Given the description of an element on the screen output the (x, y) to click on. 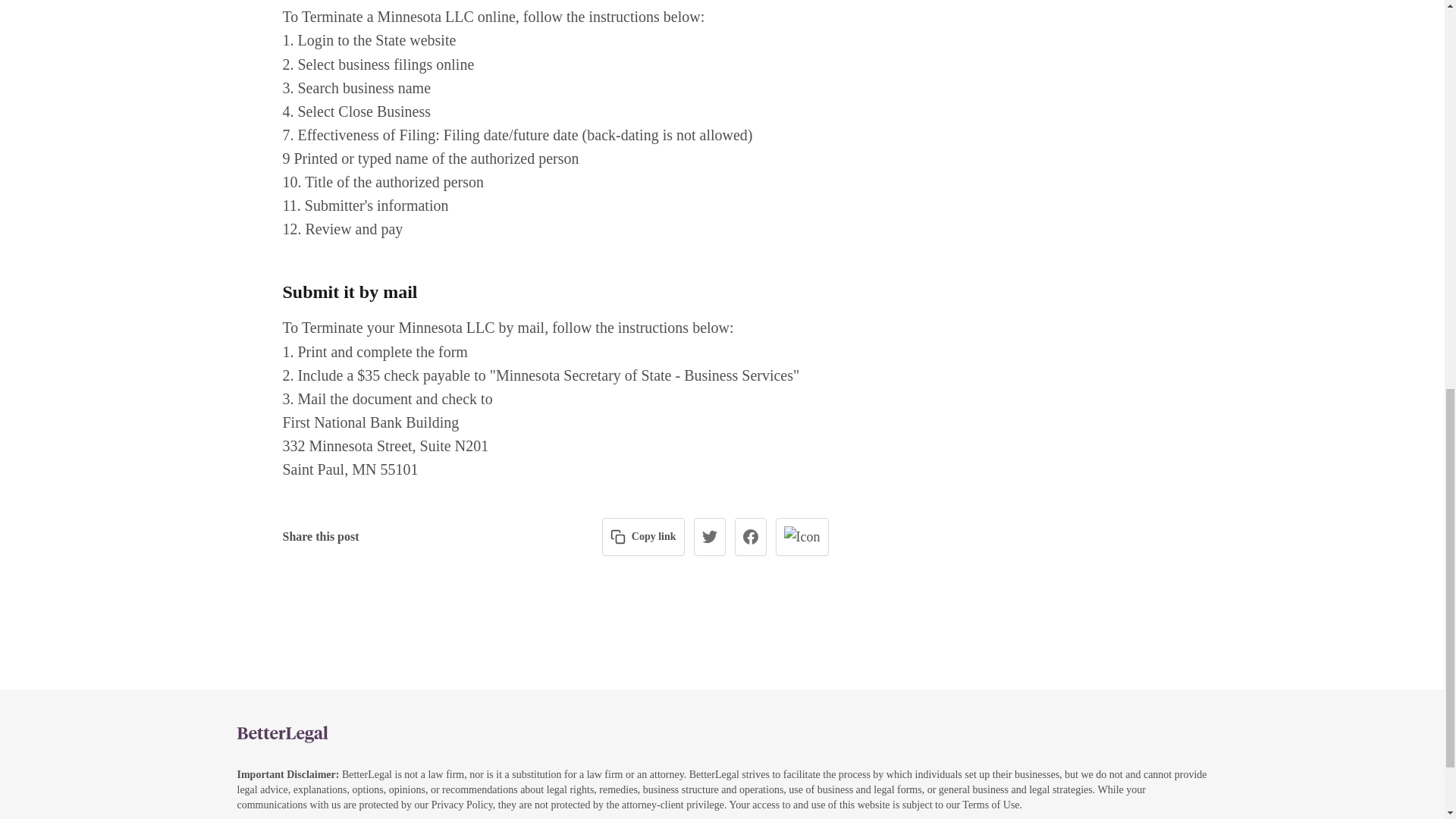
Share this post (320, 536)
Copy link (643, 536)
